Given the description of an element on the screen output the (x, y) to click on. 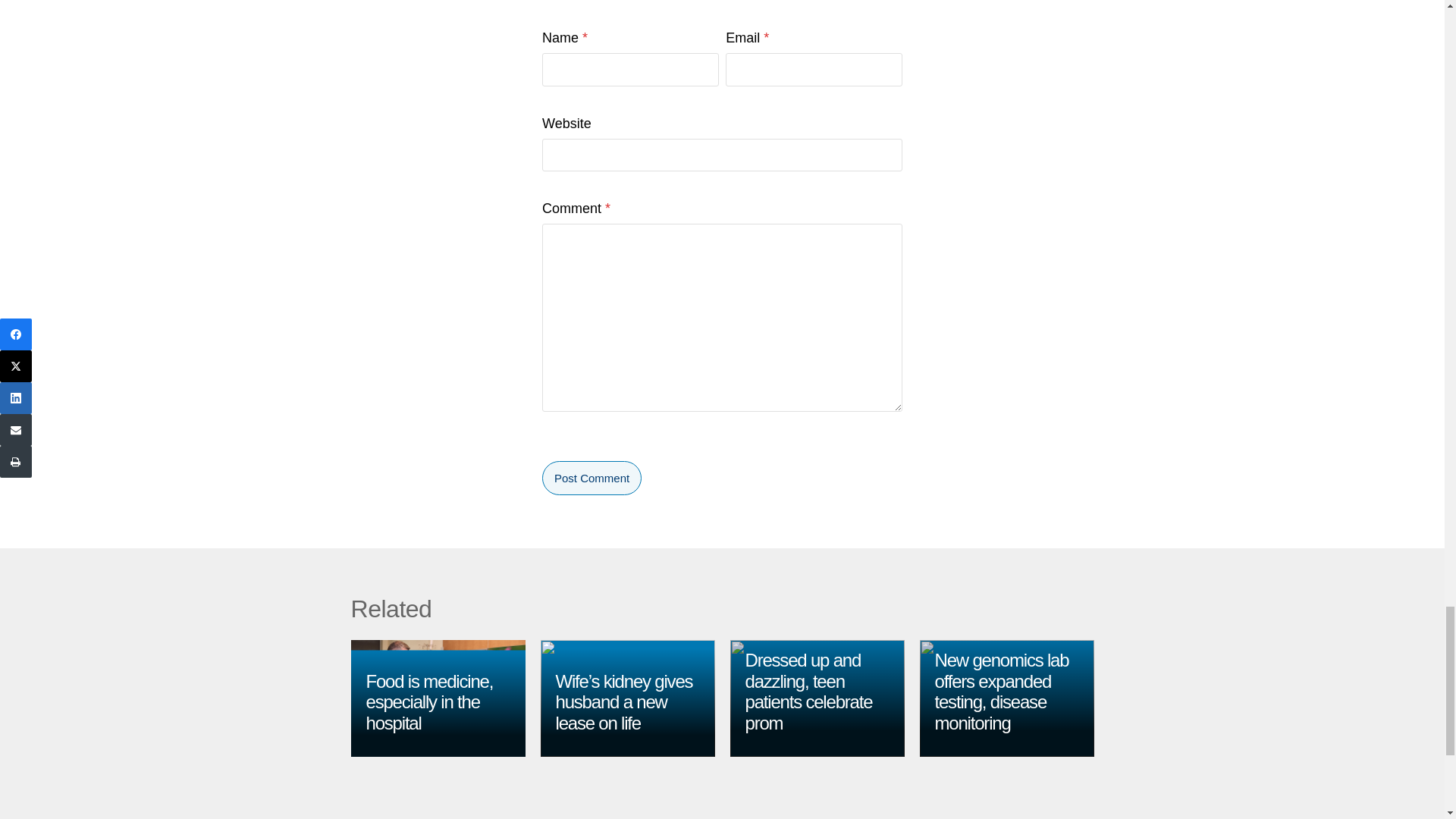
New genomics lab offers expanded testing, disease monitoring (1001, 691)
Post Comment (591, 478)
Dressed up and dazzling, teen patients celebrate prom (808, 691)
Food is medicine, especially in the hospital (429, 701)
Post Comment (591, 478)
Dressed up and dazzling, teen patients celebrate prom (808, 691)
Food is medicine, especially in the hospital (429, 701)
New genomics lab offers expanded testing, disease monitoring (1001, 691)
